Given the description of an element on the screen output the (x, y) to click on. 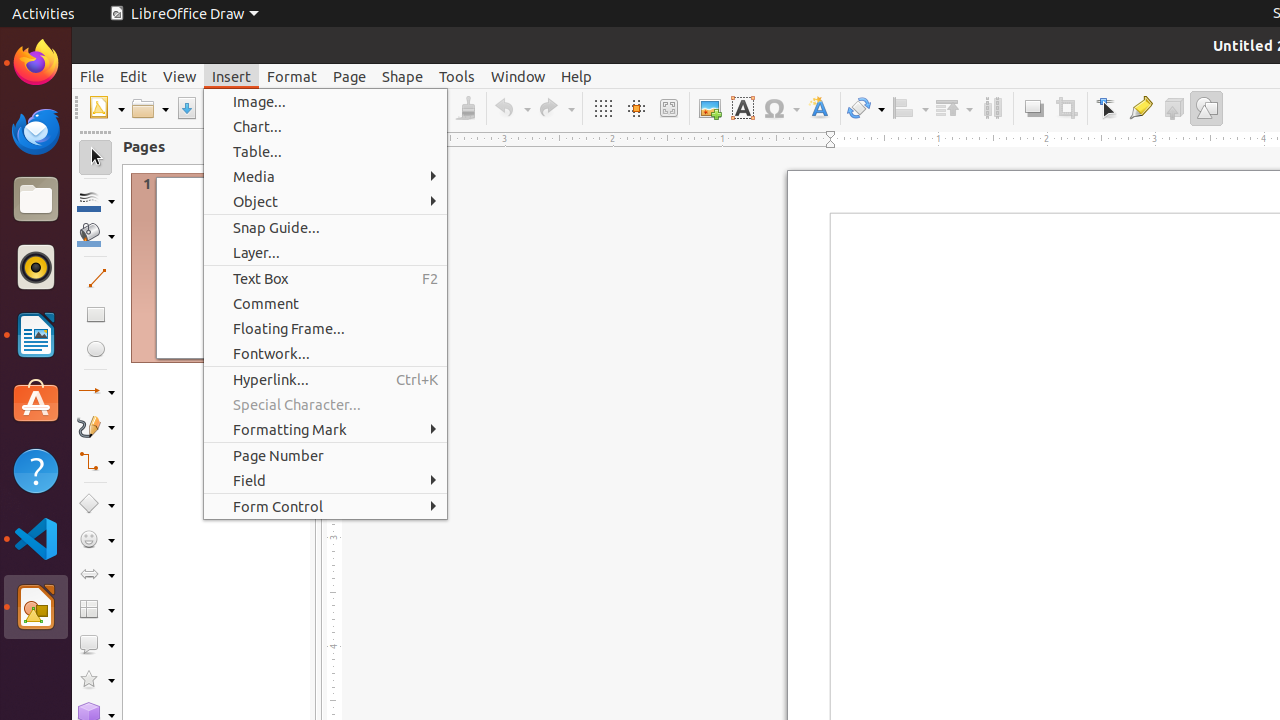
Zoom & Pan Element type: push-button (668, 108)
Text Box Element type: push-button (742, 108)
Page Number Element type: menu-item (325, 455)
Connectors Element type: push-button (96, 461)
Star Shapes Element type: push-button (96, 679)
